Given the description of an element on the screen output the (x, y) to click on. 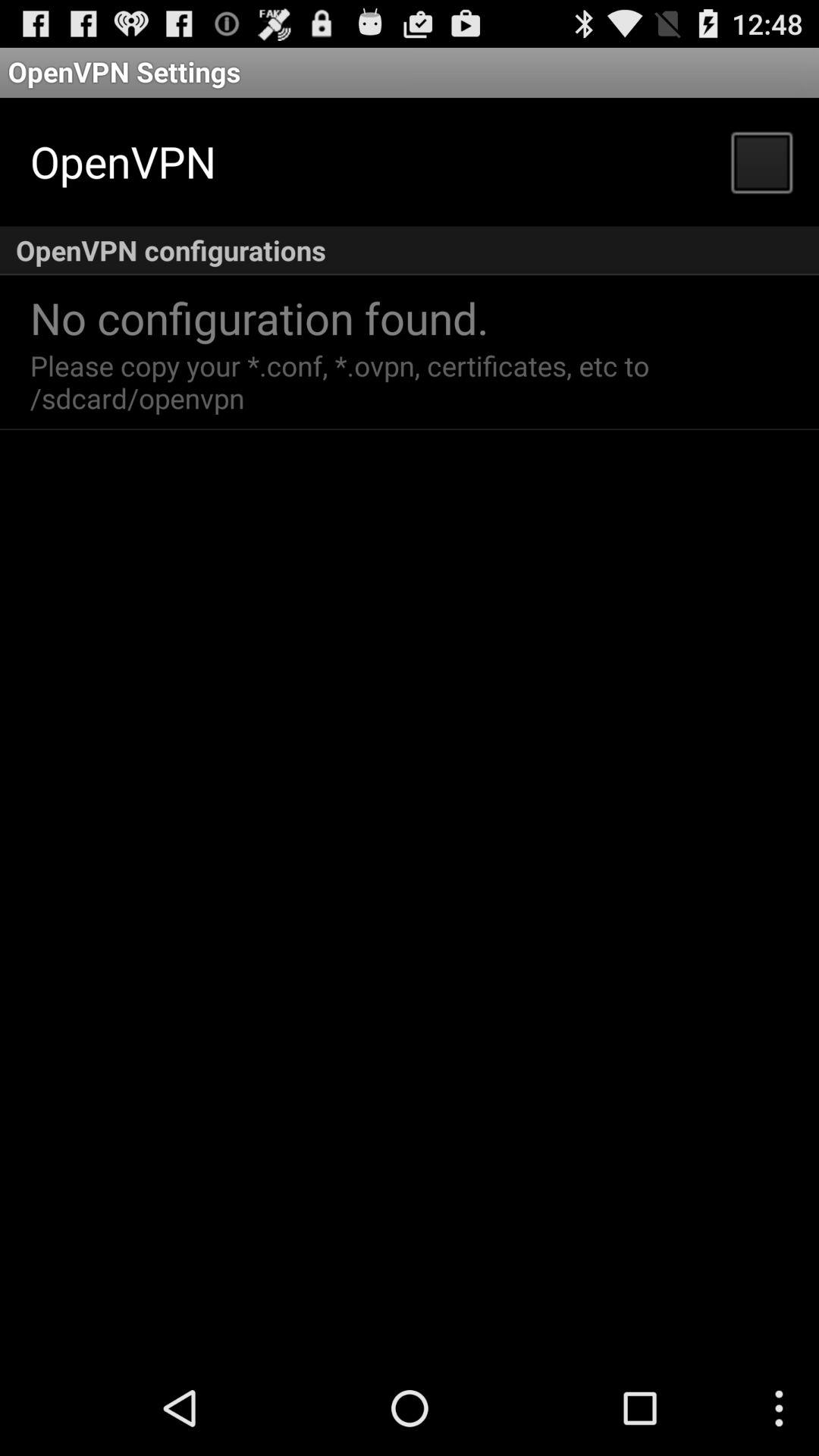
scroll to openvpn configurations (409, 250)
